Given the description of an element on the screen output the (x, y) to click on. 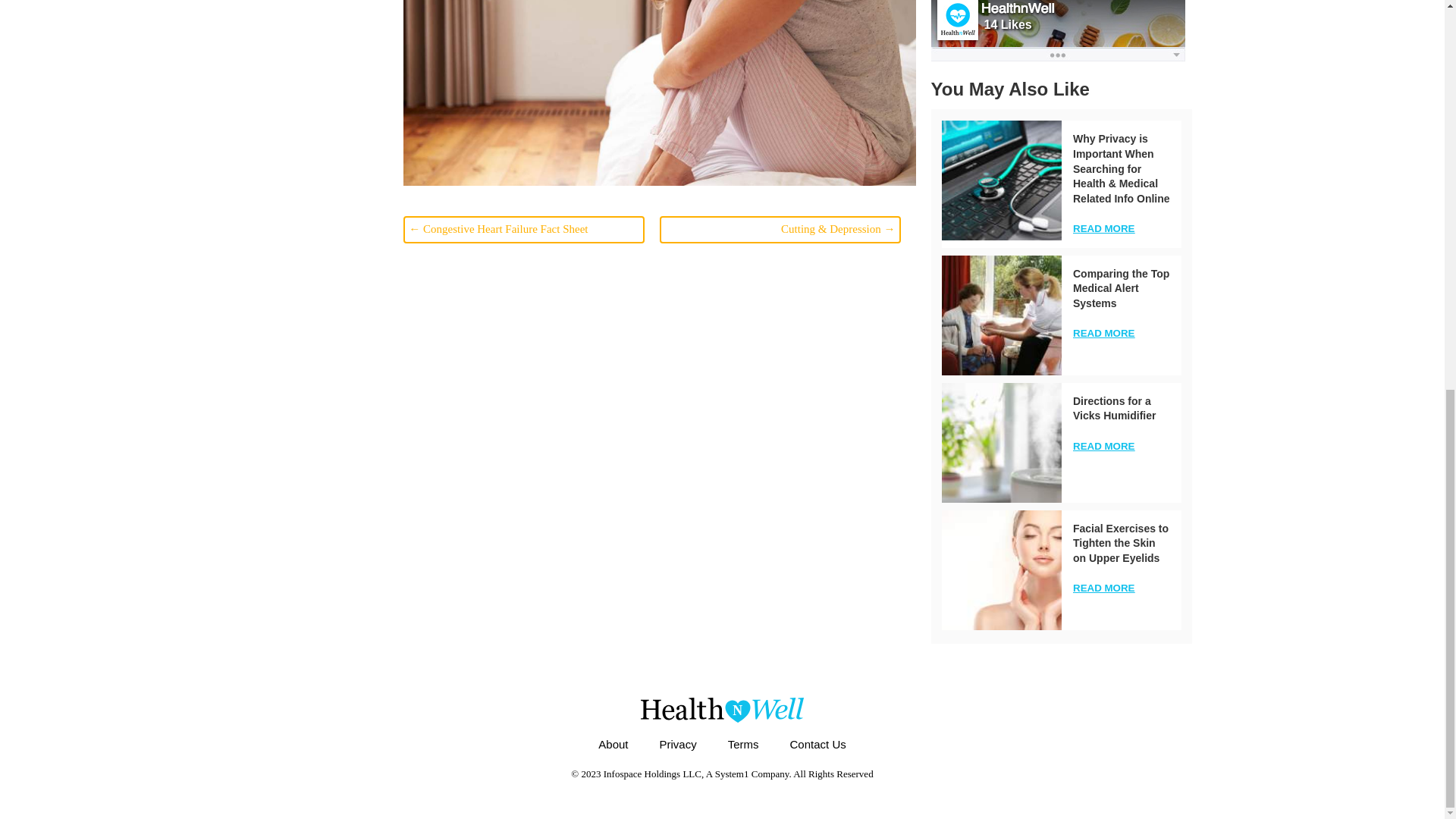
Comparing the Top Medical Alert Systems (1121, 288)
READ MORE (1103, 333)
Comparing the Top Medical Alert Systems (1121, 288)
How to Stop Smoking While Pregnant (659, 92)
Directions for a Vicks Humidifier (1114, 408)
READ MORE (1103, 228)
Directions for a Vicks Humidifier (1001, 442)
Comparing the Top Medical Alert Systems (1001, 315)
